Given the description of an element on the screen output the (x, y) to click on. 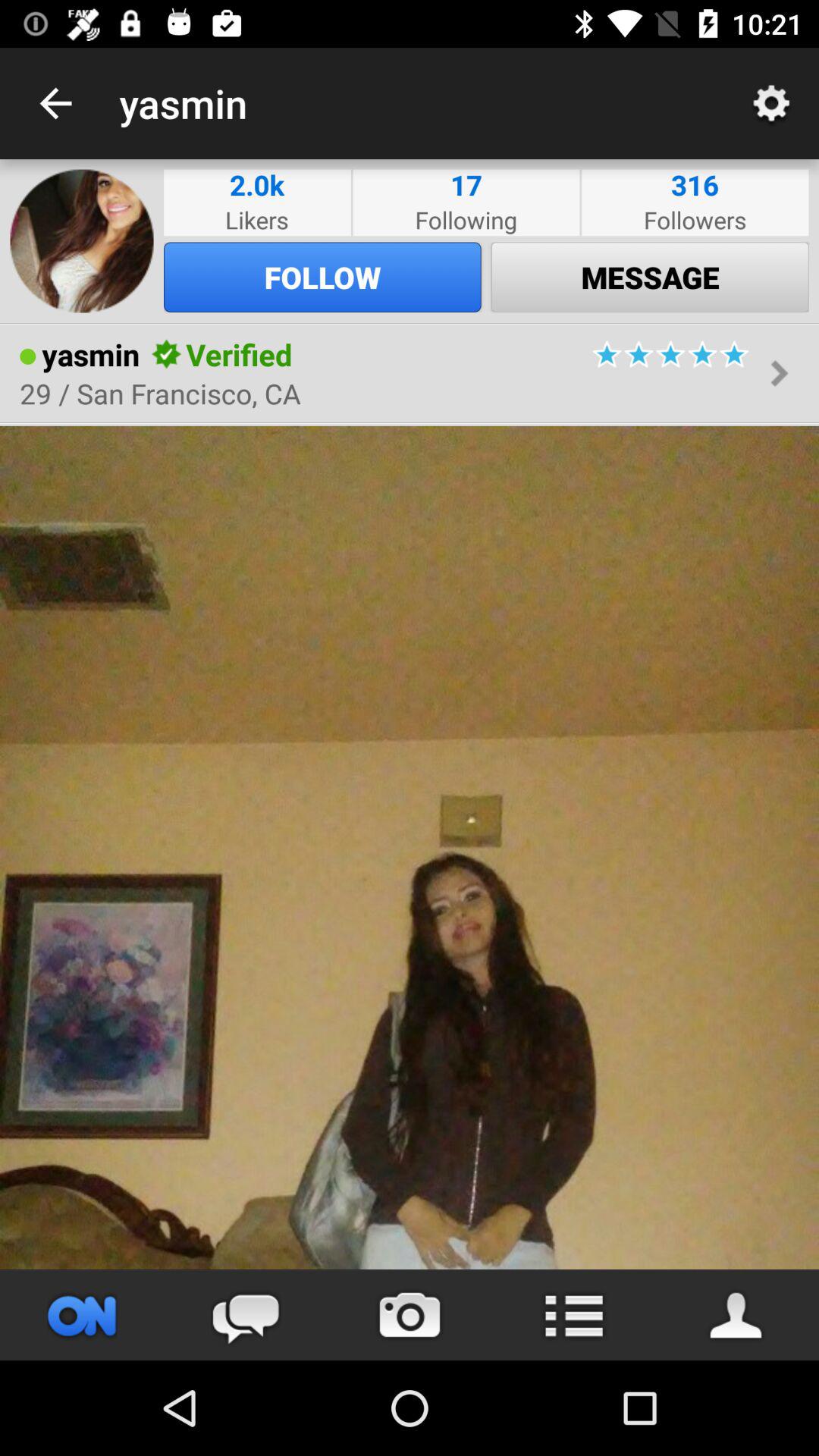
select the item at the center (409, 847)
